Given the description of an element on the screen output the (x, y) to click on. 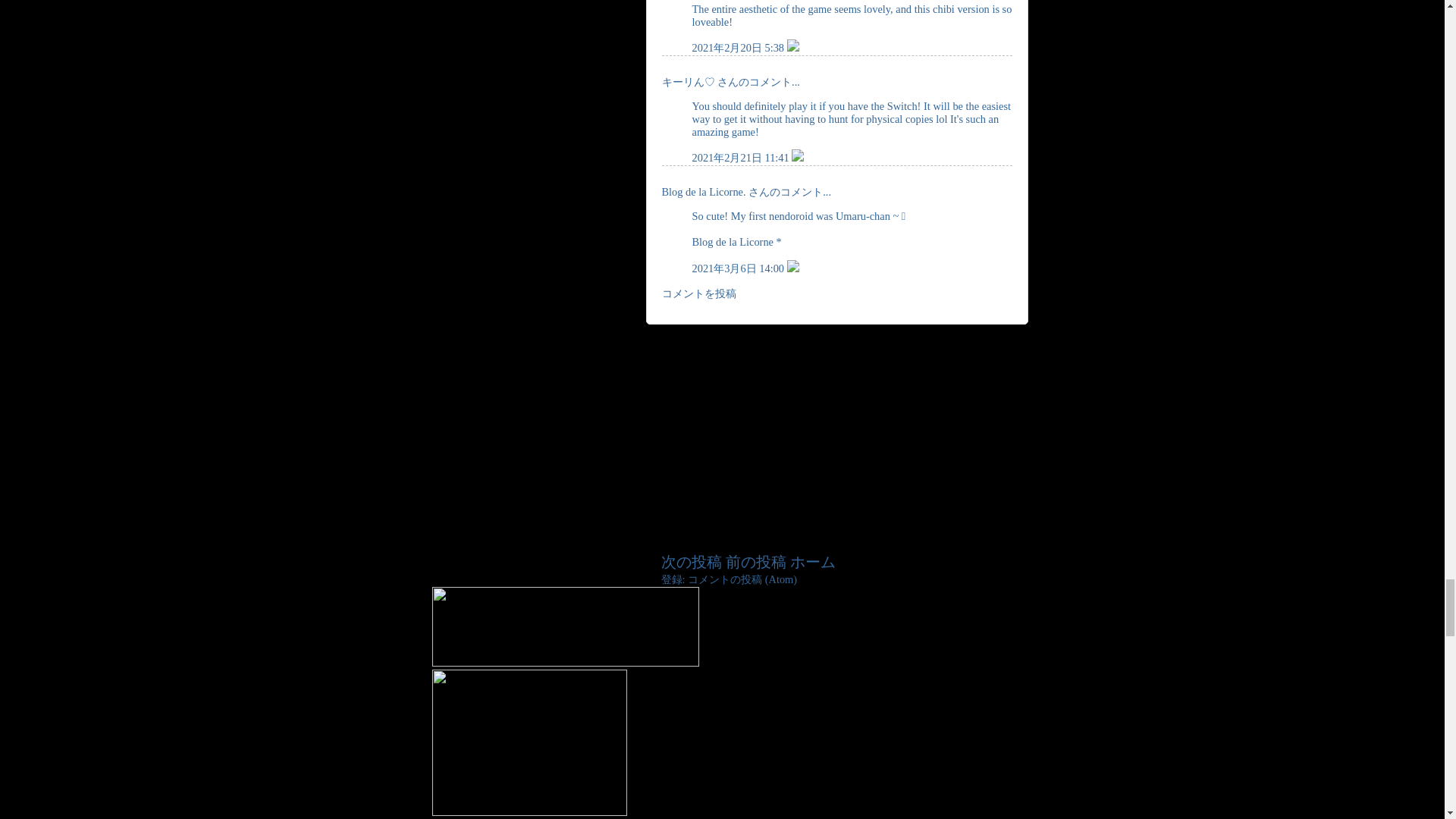
comment permalink (738, 47)
